Given the description of an element on the screen output the (x, y) to click on. 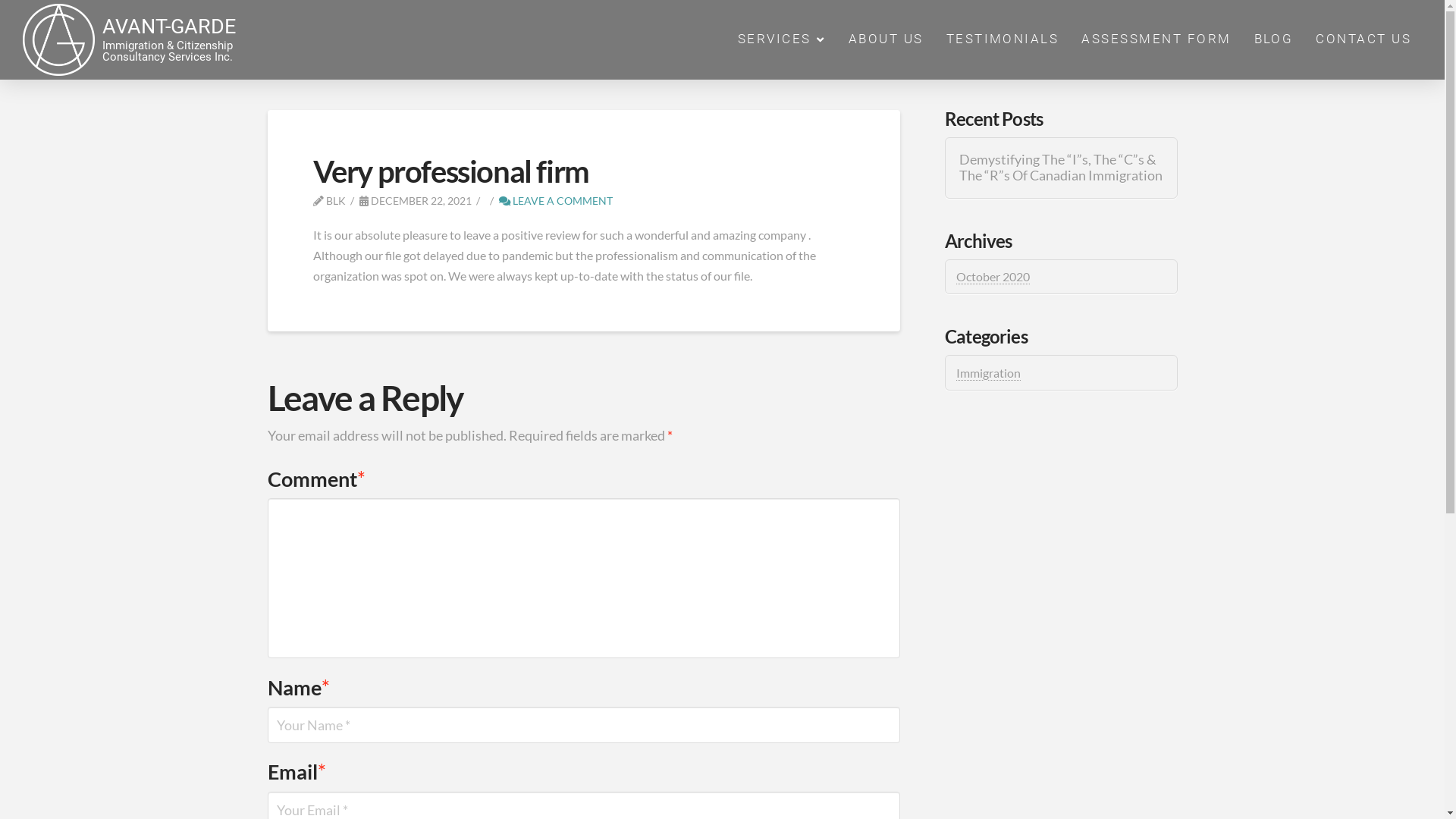
ABOUT US Element type: text (885, 40)
CONTACT US Element type: text (1362, 40)
BLOG Element type: text (1272, 40)
SERVICES Element type: text (780, 40)
Immigration Element type: text (988, 372)
October 2020 Element type: text (992, 276)
LEAVE A COMMENT Element type: text (555, 200)
ASSESSMENT FORM Element type: text (1155, 40)
TESTIMONIALS Element type: text (1001, 40)
